Given the description of an element on the screen output the (x, y) to click on. 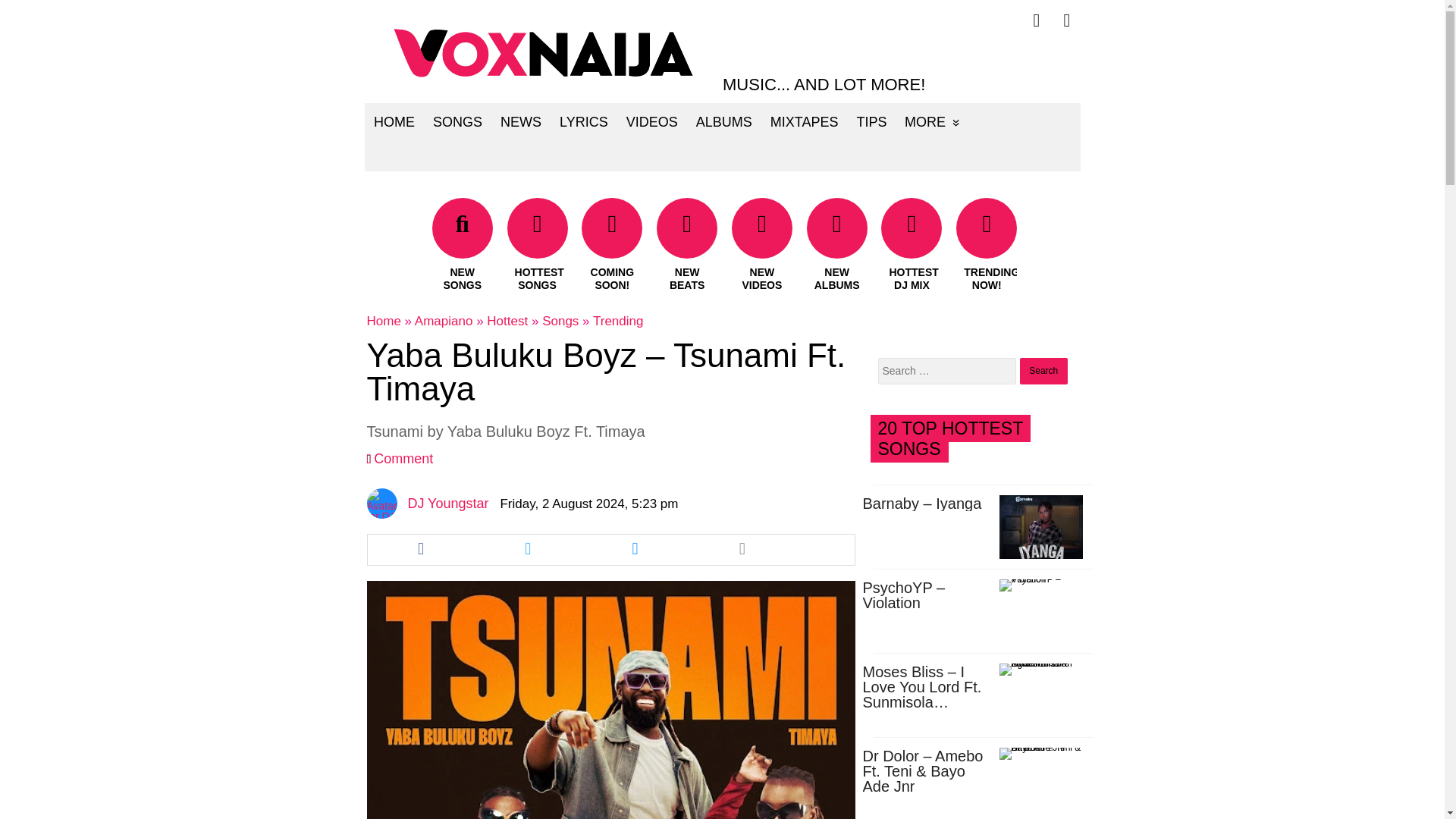
Songs (559, 320)
Comment (403, 458)
HOME (393, 121)
Trending (617, 320)
Amapiano (443, 320)
Hottest (506, 320)
LYRICS (583, 121)
MORE (932, 121)
MIXTAPES (803, 121)
SONGS (456, 121)
